Given the description of an element on the screen output the (x, y) to click on. 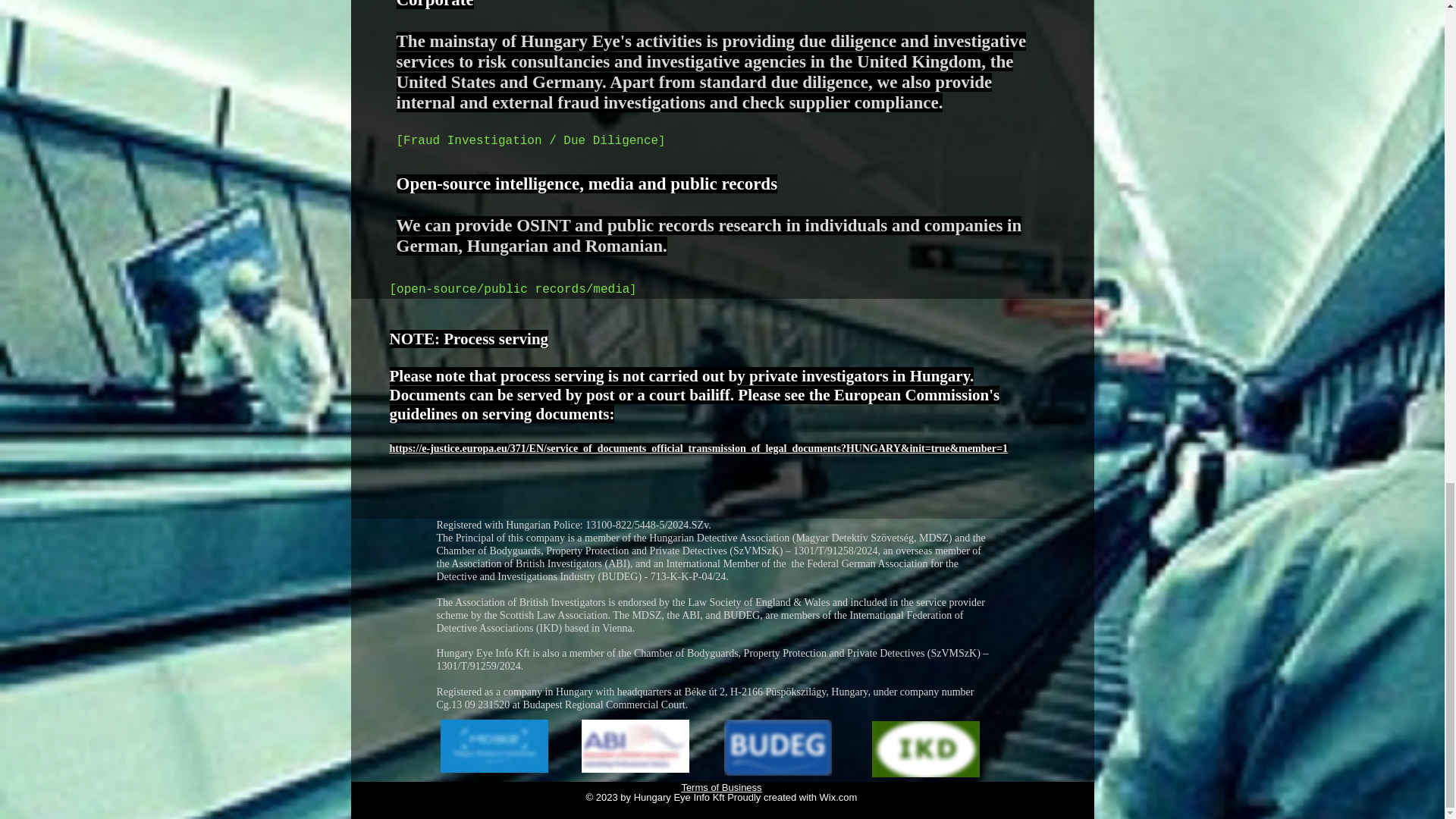
Terms of Business (721, 787)
Wix.com (838, 797)
